Given the description of an element on the screen output the (x, y) to click on. 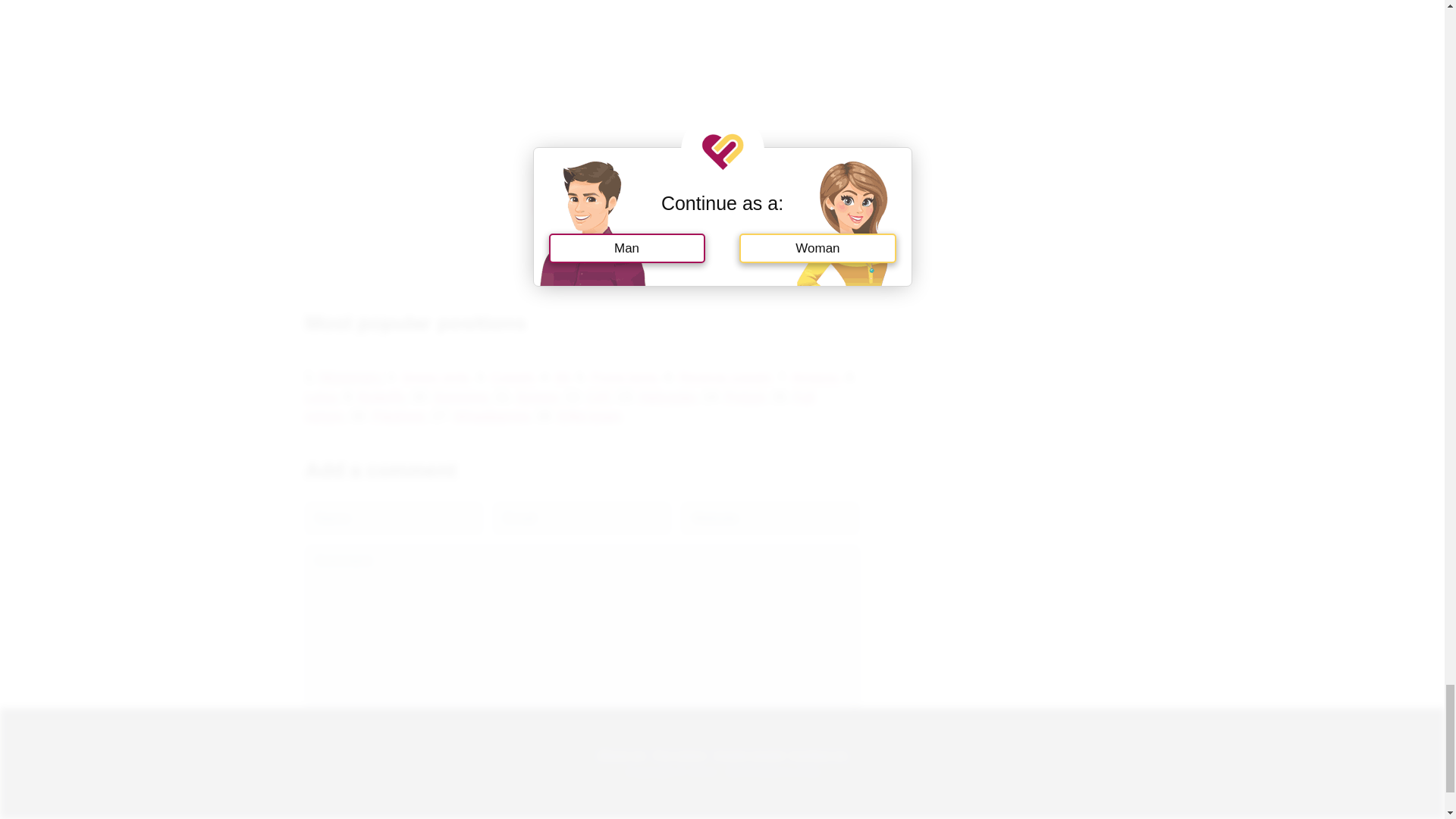
240. Lotus Flower (581, 205)
yes (309, 731)
About Us (620, 753)
Image Usage Conditions (749, 753)
Information For Users (678, 753)
Contact Us (818, 753)
Post Comment (356, 766)
